Given the description of an element on the screen output the (x, y) to click on. 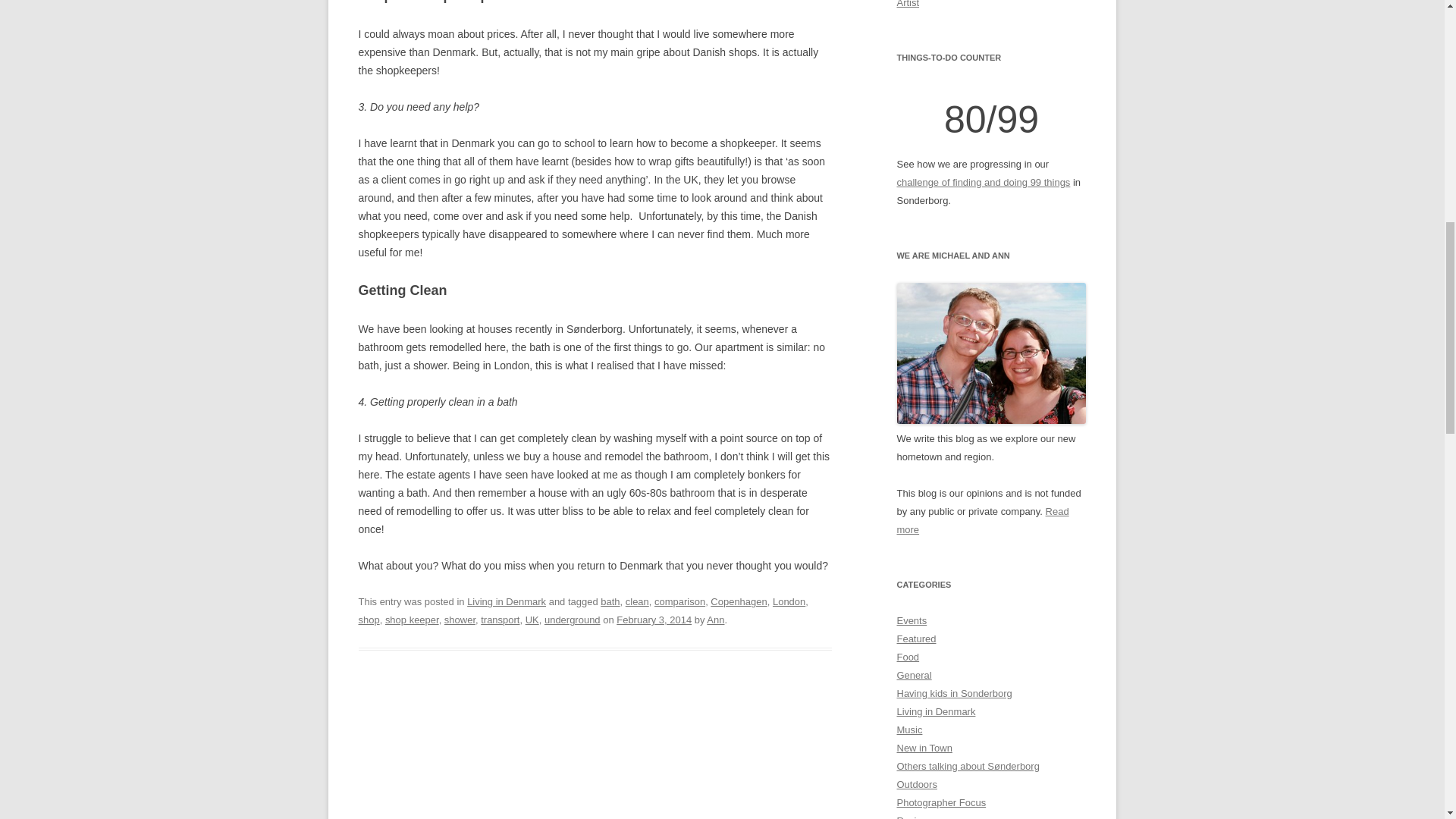
transport (499, 619)
UK (531, 619)
shop keeper (412, 619)
February 3, 2014 (653, 619)
shop (368, 619)
shower (460, 619)
View all posts by Ann (714, 619)
Copenhagen (738, 601)
London (789, 601)
bath (609, 601)
clean (637, 601)
underground (571, 619)
Living in Denmark (506, 601)
comparison (678, 601)
10:48 am (653, 619)
